Given the description of an element on the screen output the (x, y) to click on. 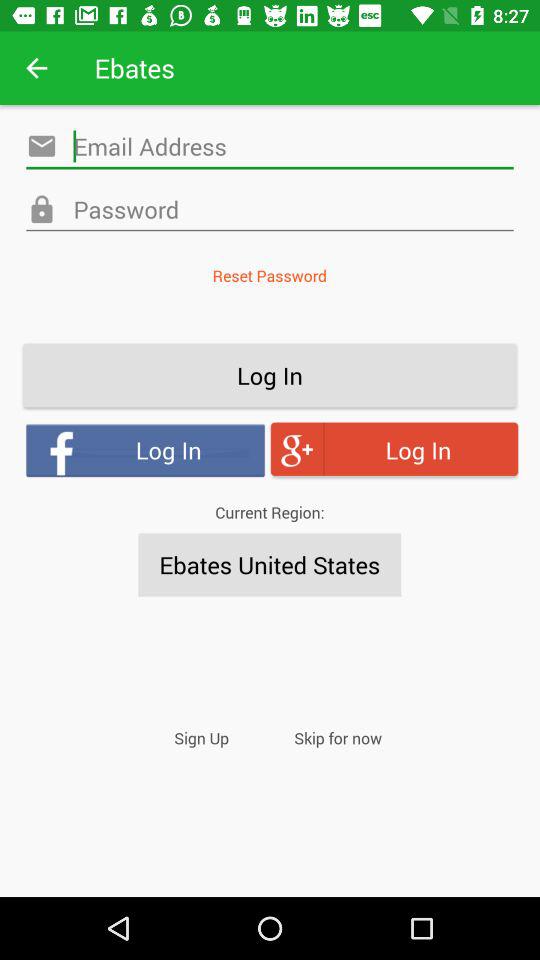
flip until sign up item (201, 737)
